Given the description of an element on the screen output the (x, y) to click on. 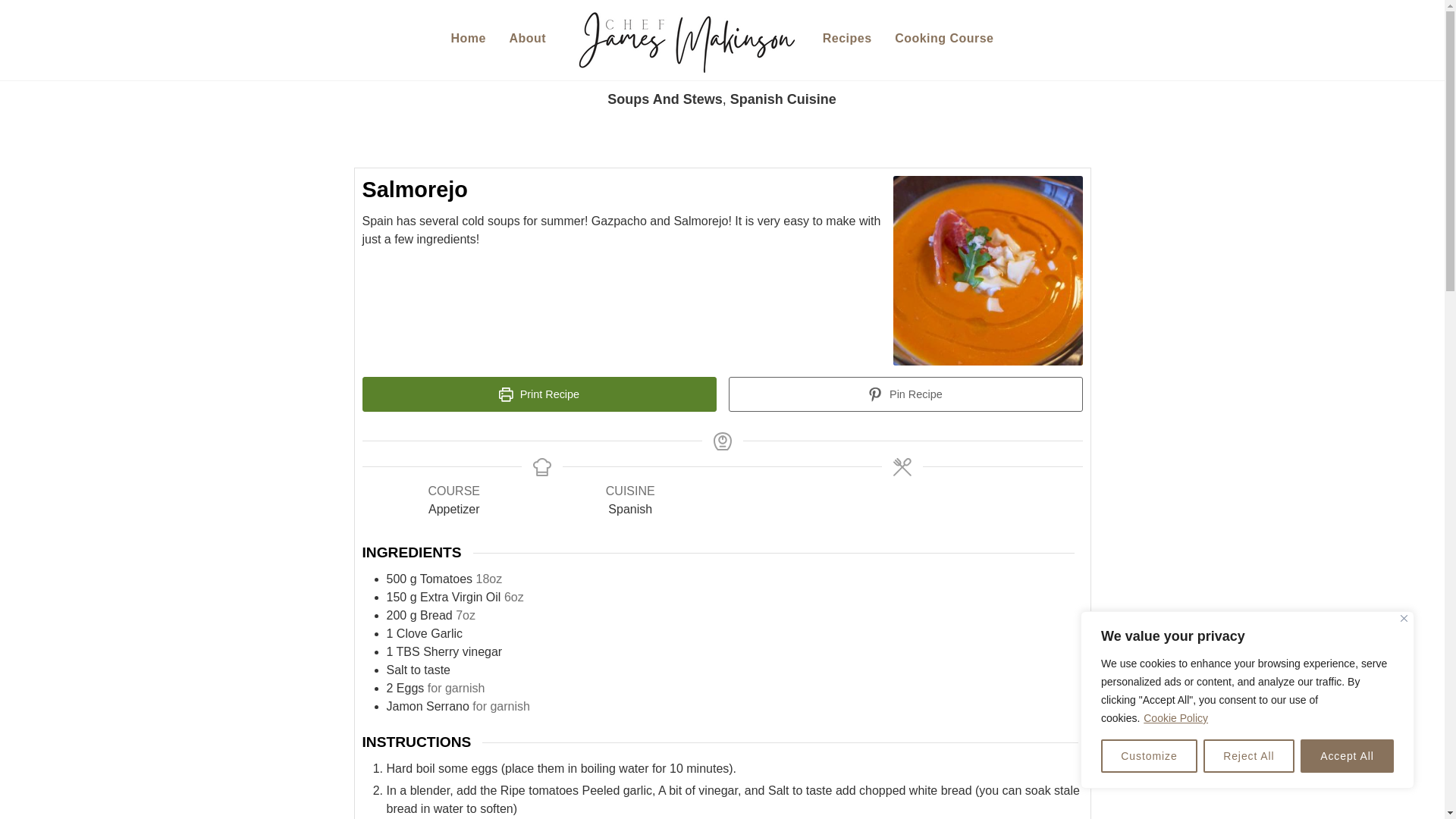
James Makinson (683, 38)
Soups And Stews (664, 99)
Recipes (847, 38)
Accept All (1346, 756)
Customize (721, 40)
Print Recipe (1148, 756)
Cooking Course (539, 393)
Spanish Cuisine (944, 38)
Pin Recipe (782, 99)
